Given the description of an element on the screen output the (x, y) to click on. 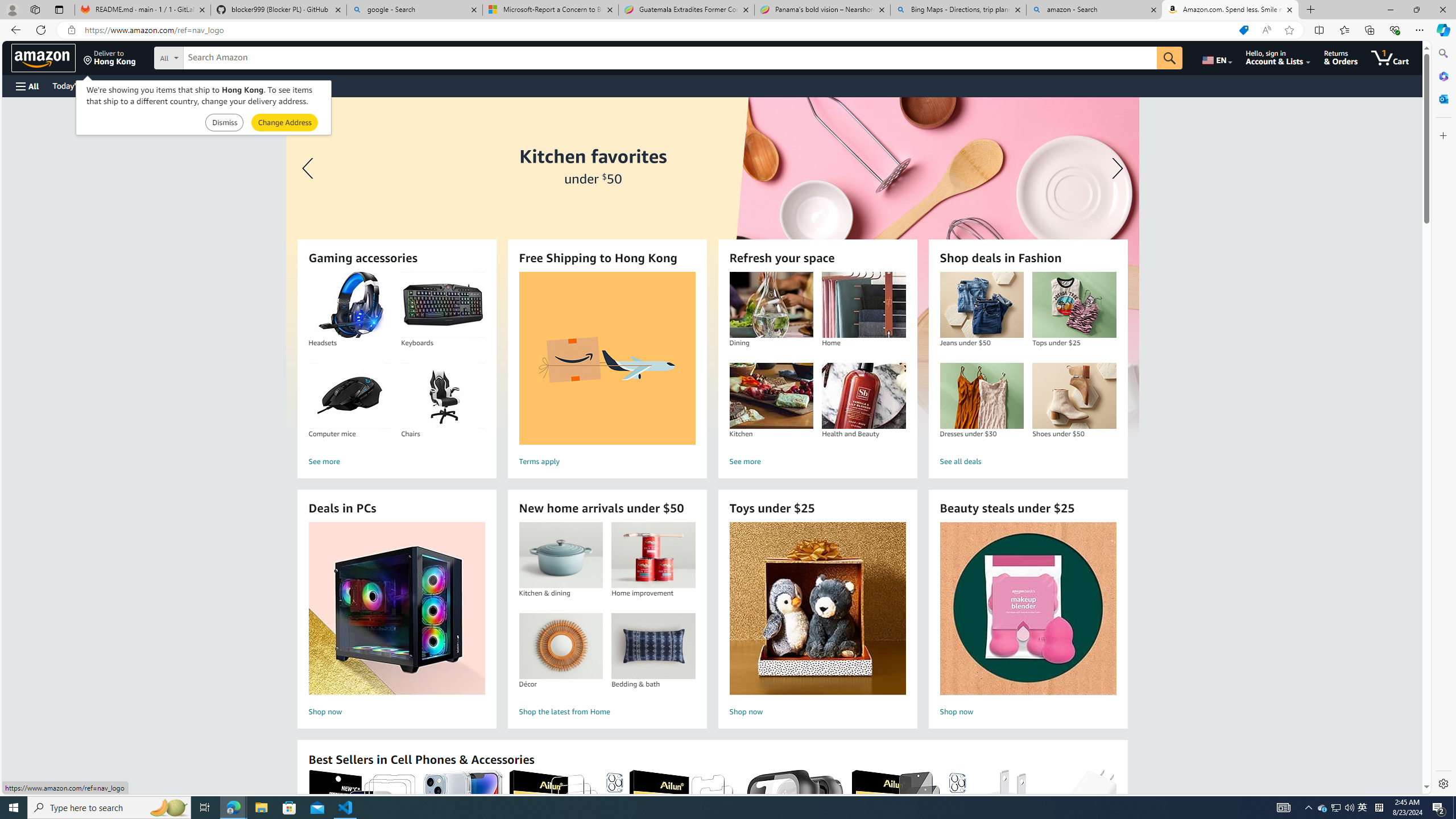
Shoes under $50 (1074, 395)
Headsets (350, 304)
Split screen (1318, 29)
Free Shipping to Hong Kong Terms apply (606, 370)
See all deals (1027, 461)
Browser essentials (1394, 29)
Jeans under $50 (981, 304)
New Tab (1311, 9)
Kitchen (771, 395)
Next slide (1114, 168)
Workspaces (34, 9)
Home improvement (652, 555)
Tab actions menu (58, 9)
